Given the description of an element on the screen output the (x, y) to click on. 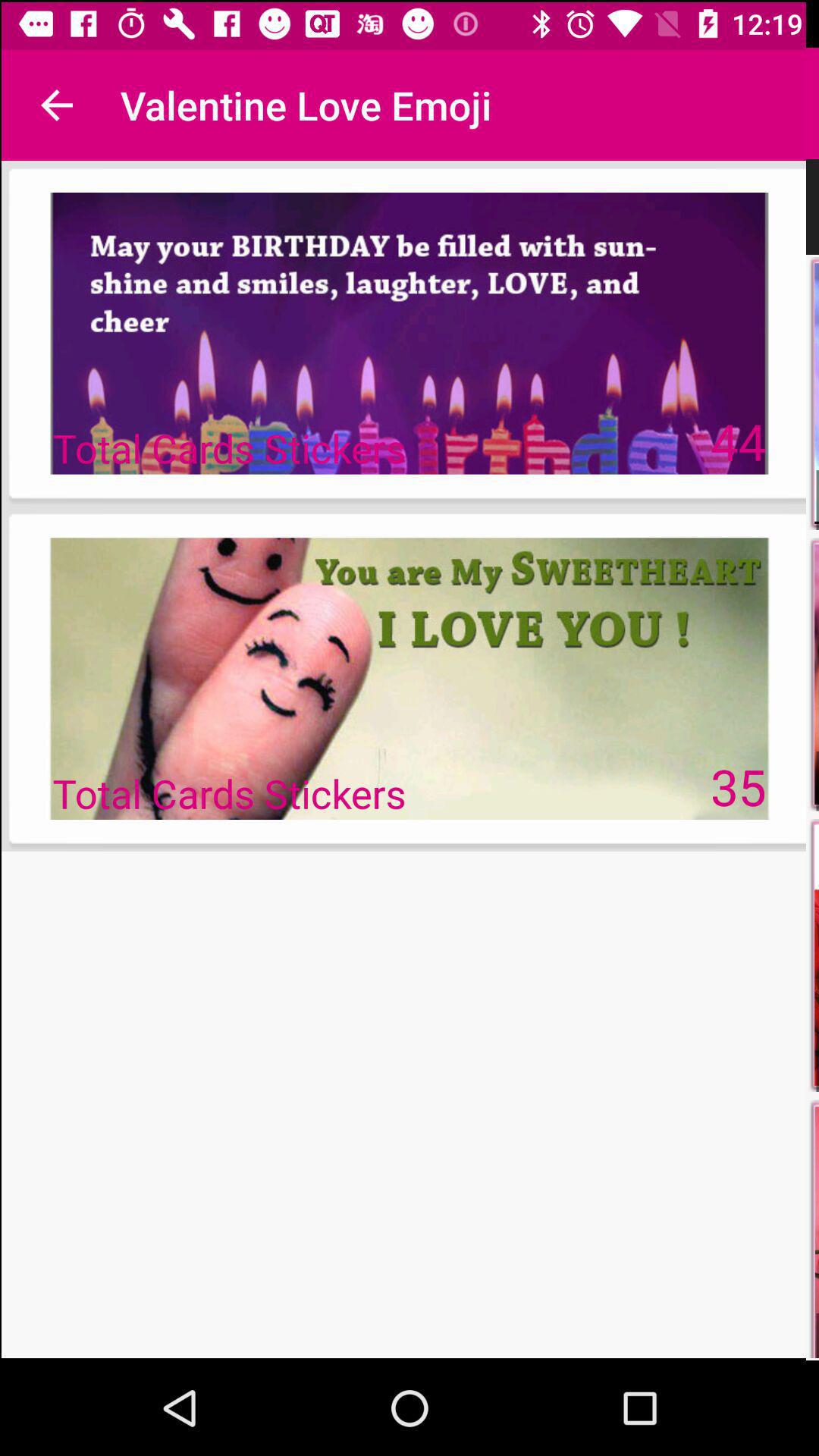
press the icon next to total cards stickers icon (739, 440)
